Given the description of an element on the screen output the (x, y) to click on. 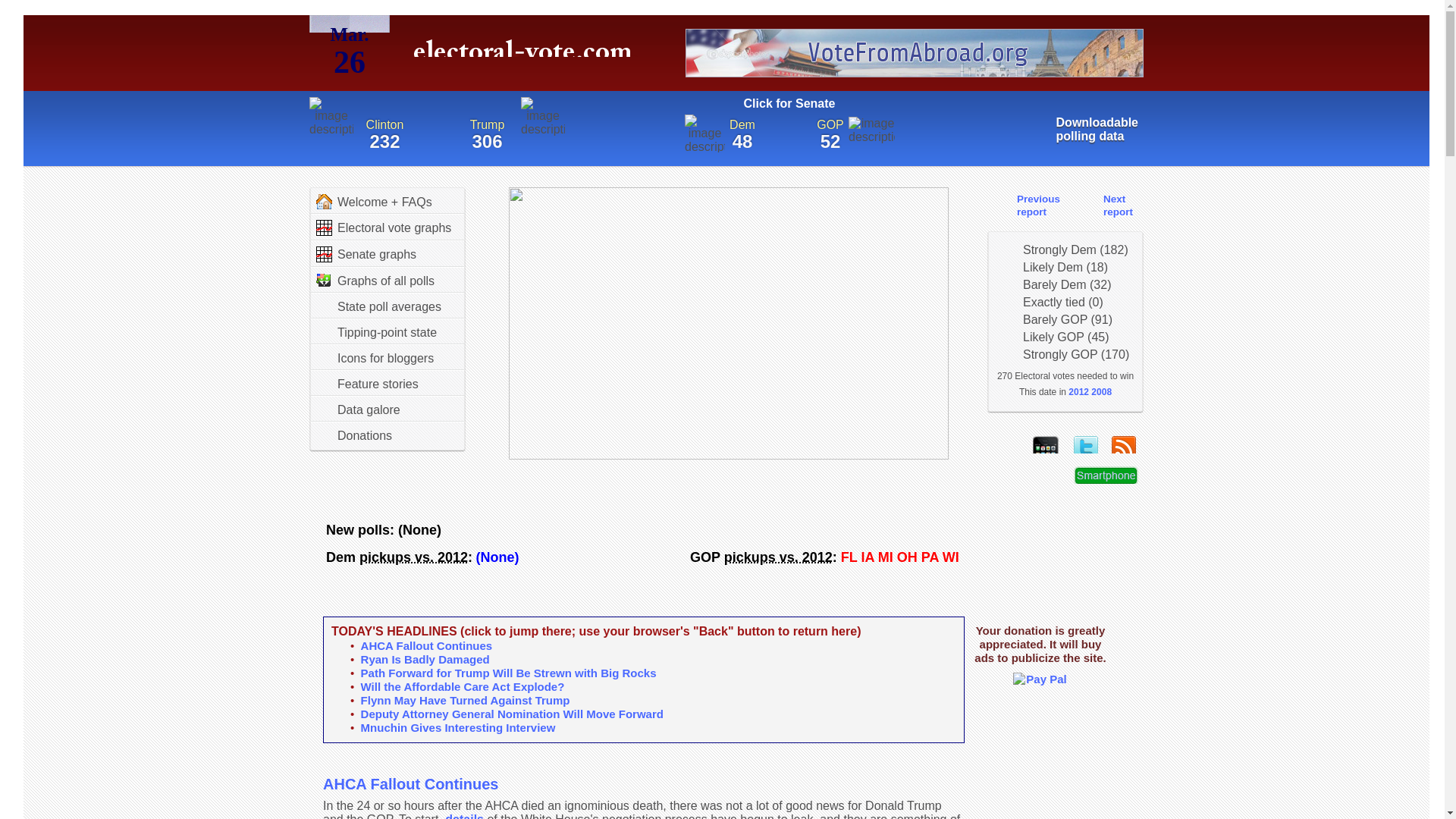
States Romney won in 2012 where Clinton is leading now (413, 557)
AHCA Fallout Continues (410, 783)
Icons for bloggers (374, 357)
electoral-vote.com (1079, 129)
Next report (526, 56)
details (1105, 204)
Previous report (464, 816)
2008 (1026, 204)
Flynn May Have Turned Against Trump (1101, 391)
